Given the description of an element on the screen output the (x, y) to click on. 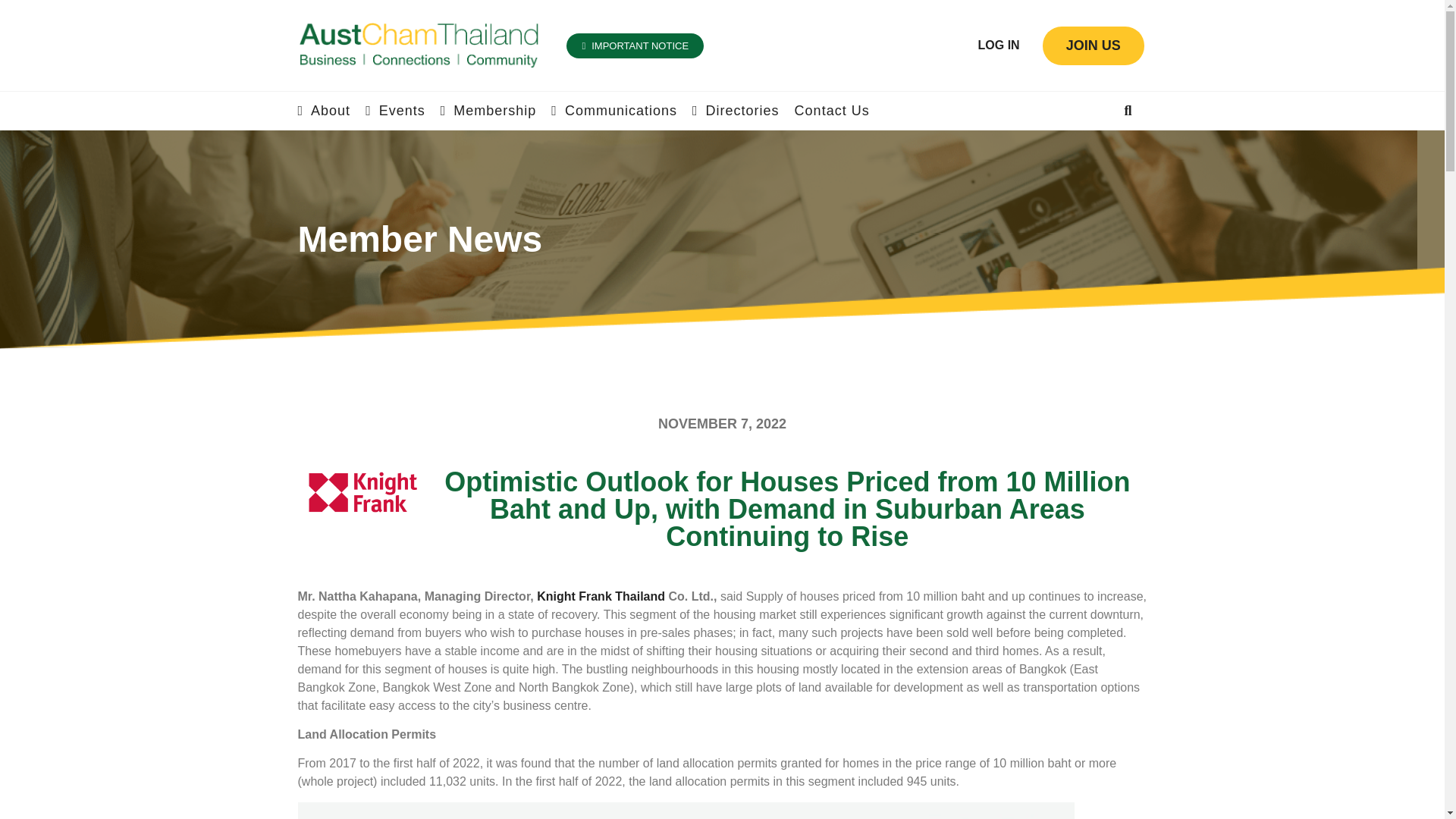
About (323, 110)
Communications (614, 110)
Directories (735, 110)
Membership (489, 110)
JOIN US (1093, 44)
Contact Us (831, 110)
IMPORTANT NOTICE (634, 45)
Events (395, 110)
LOG IN (999, 44)
